Given the description of an element on the screen output the (x, y) to click on. 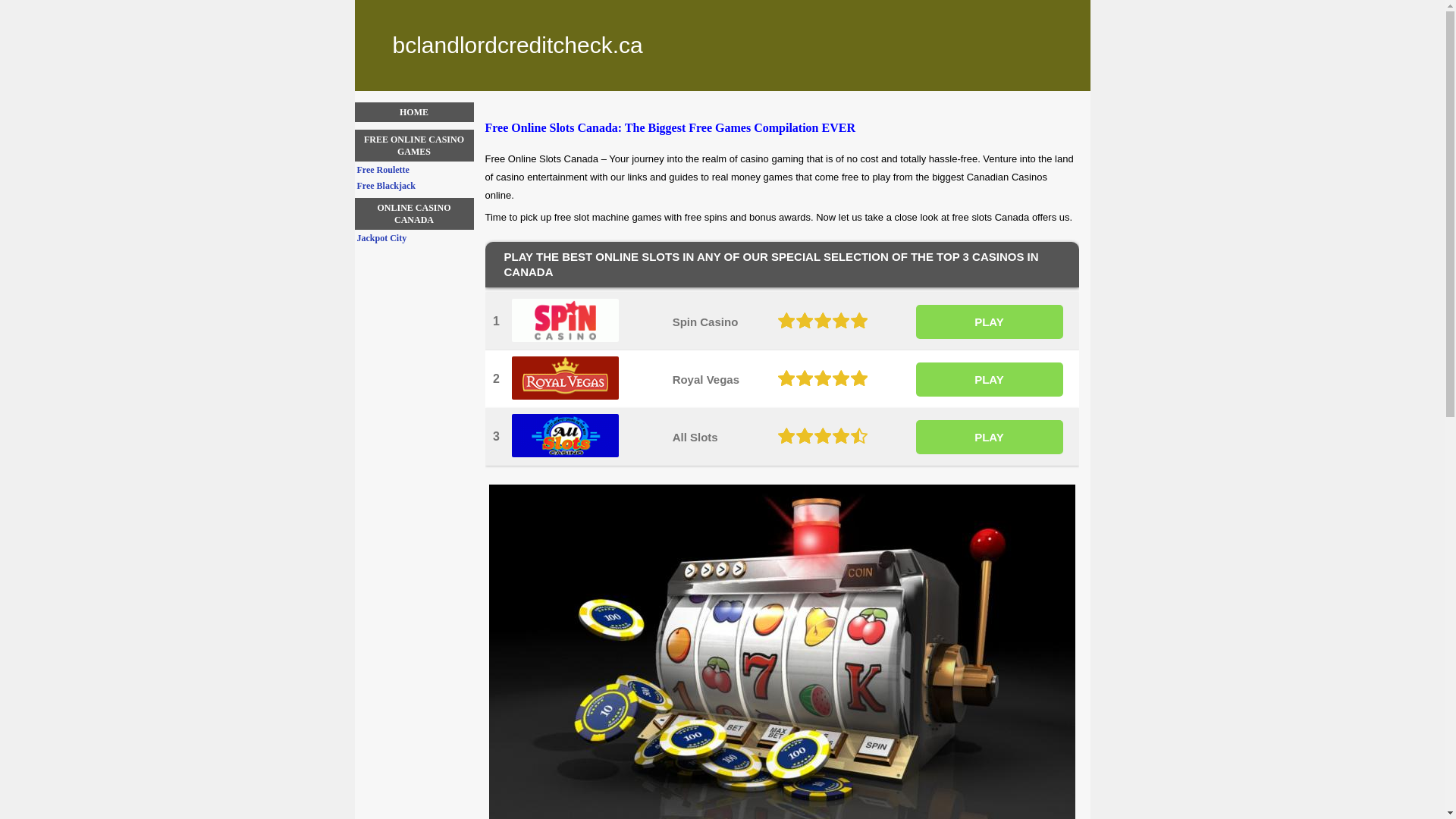
PLAY Element type: text (989, 379)
ONLINE CASINO CANADA Element type: text (413, 213)
Free Blackjack Element type: text (414, 185)
Jackpot City Element type: text (414, 237)
HOME Element type: text (413, 112)
PLAY Element type: text (989, 437)
FREE ONLINE CASINO GAMES Element type: text (413, 145)
PLAY Element type: text (989, 321)
Free Roulette Element type: text (414, 169)
